Given the description of an element on the screen output the (x, y) to click on. 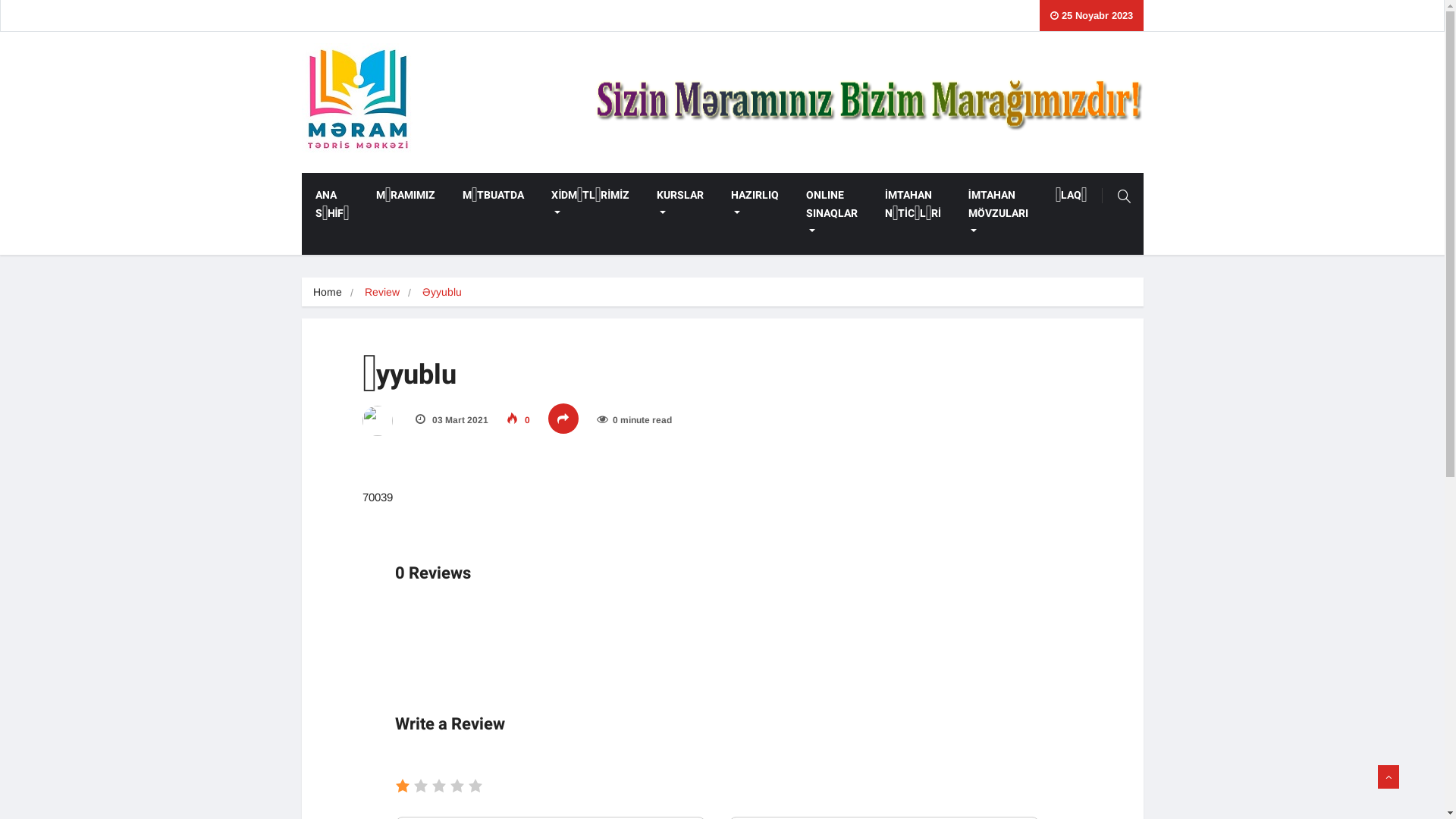
Back to Top Element type: hover (1388, 776)
KURSLAR Element type: text (680, 204)
HAZIRLIQ Element type: text (754, 204)
ONLINE SINAQLAR Element type: text (831, 213)
Home Element type: text (326, 291)
